Given the description of an element on the screen output the (x, y) to click on. 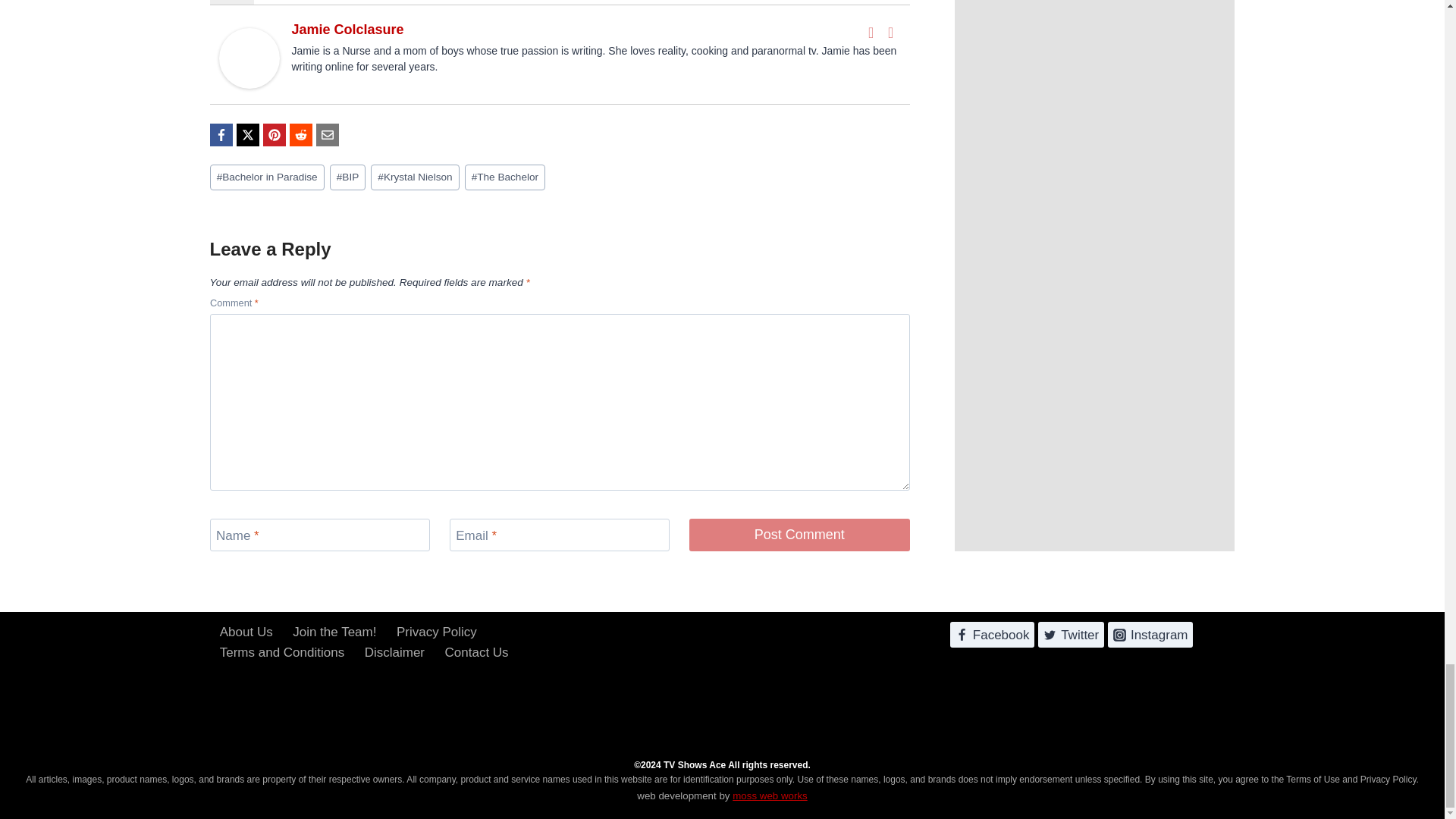
The Bachelor (505, 177)
Post Comment (799, 534)
BIP (348, 177)
Krystal Nielson (415, 177)
Facebook (870, 32)
Recent Posts (293, 2)
Author (231, 2)
Jamie Colclasure (347, 29)
Twitter (890, 32)
Bachelor in Paradise (266, 177)
